Given the description of an element on the screen output the (x, y) to click on. 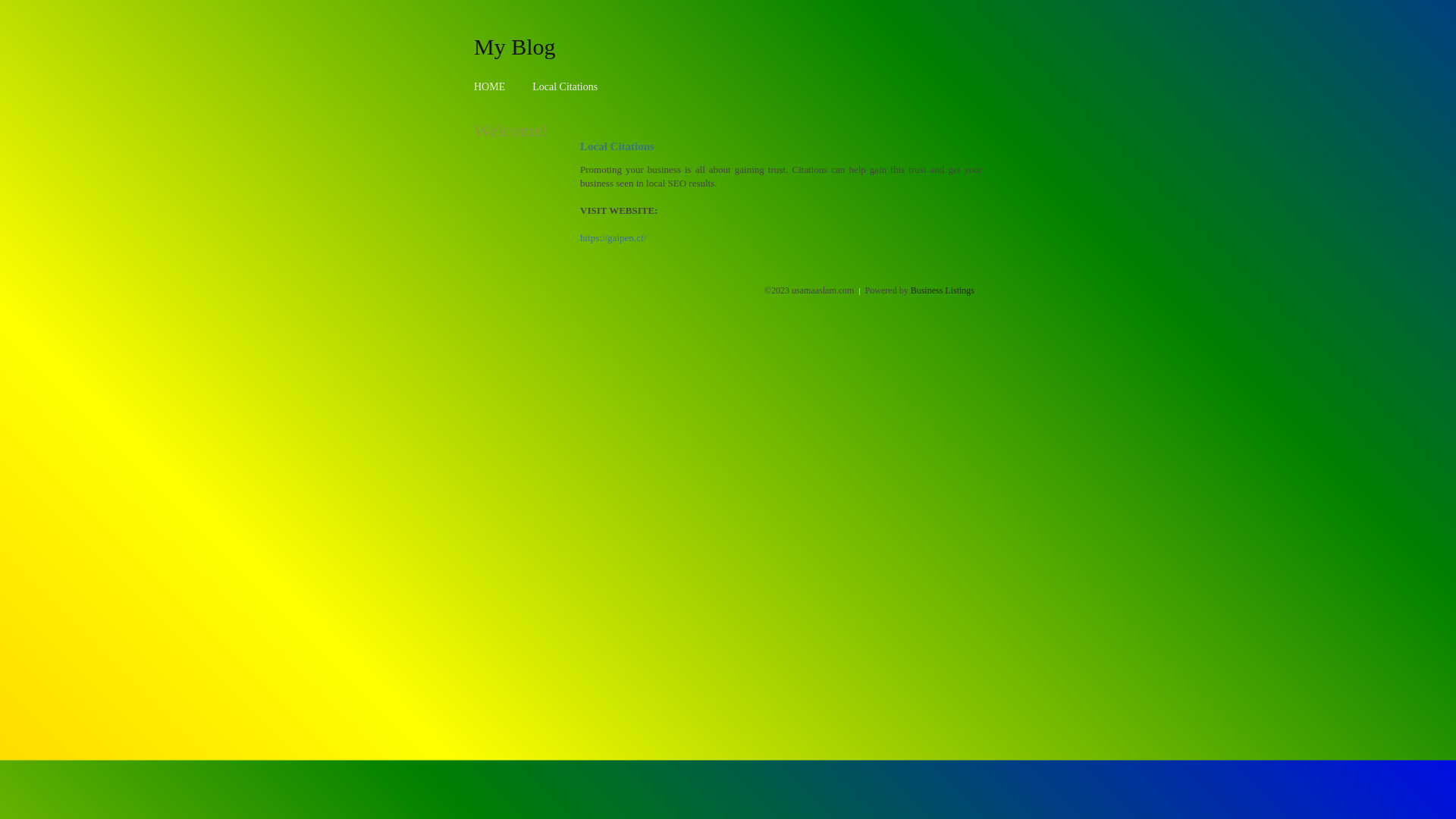
Business Listings Element type: text (942, 290)
My Blog Element type: text (514, 46)
https://gaipen.cf/ Element type: text (613, 237)
HOME Element type: text (489, 86)
Local Citations Element type: text (564, 86)
